Given the description of an element on the screen output the (x, y) to click on. 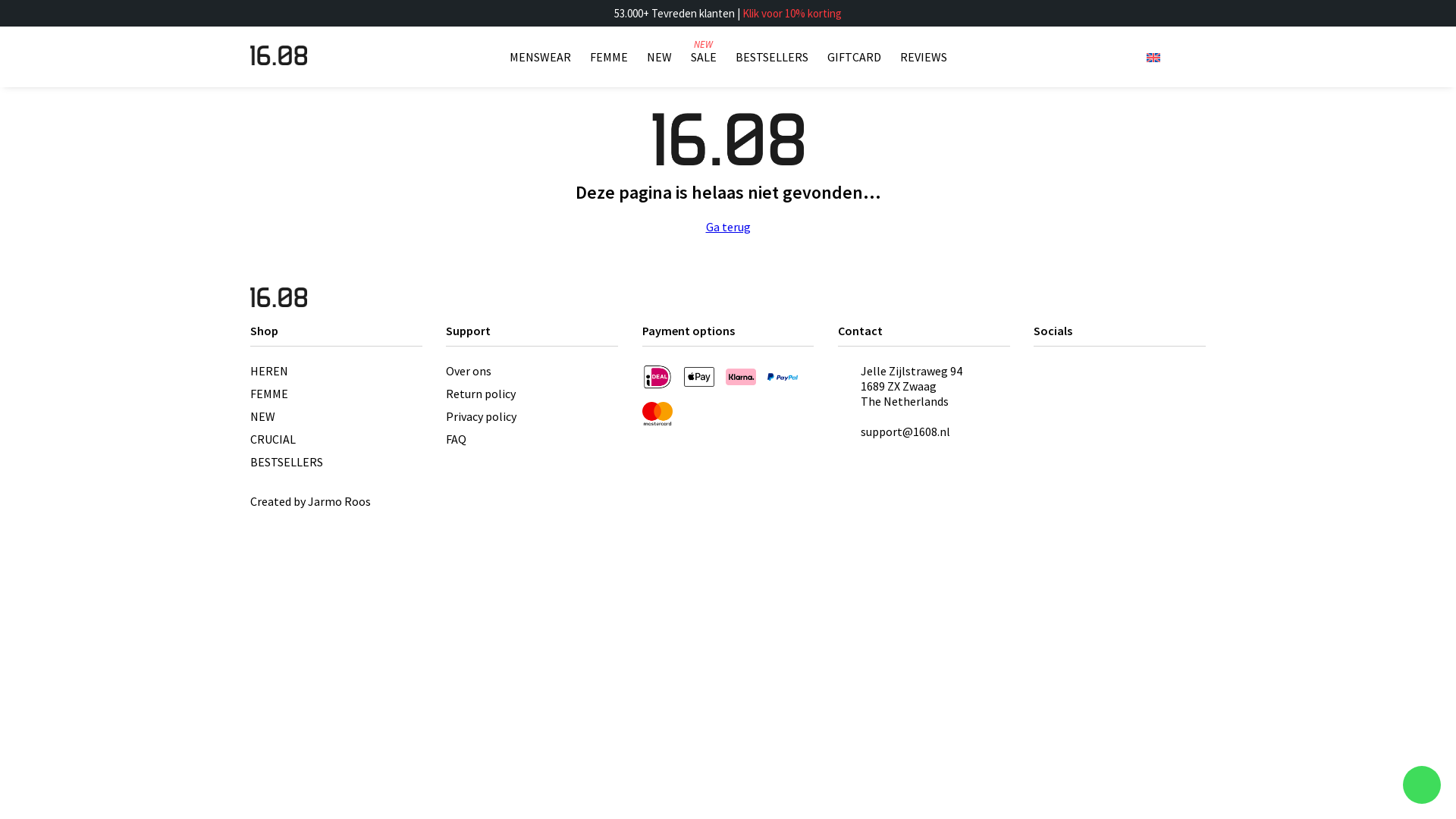
Jelle Zijlstraweg 94
1689 ZX Zwaag
The Netherlands Element type: text (935, 385)
REVIEWS Element type: text (922, 56)
MENSWEAR Element type: text (540, 56)
Return policy Element type: text (480, 393)
NEW Element type: text (658, 56)
CRUCIAL Element type: text (272, 438)
support@1608.nl Element type: text (905, 431)
FEMME Element type: text (608, 56)
Over ons Element type: text (468, 370)
NEW Element type: text (262, 415)
FEMME Element type: text (269, 393)
Privacy policy Element type: text (480, 415)
GIFTCARD Element type: text (853, 56)
FAQ Element type: text (455, 438)
HEREN Element type: text (269, 370)
Jarmo Roos Element type: text (338, 500)
BESTSELLERS Element type: text (771, 56)
SALE Element type: text (702, 56)
Ga terug Element type: text (727, 226)
53.000+ Tevreden klanten | Klik voor 10% korting Element type: text (727, 13)
BESTSELLERS Element type: text (286, 461)
